Given the description of an element on the screen output the (x, y) to click on. 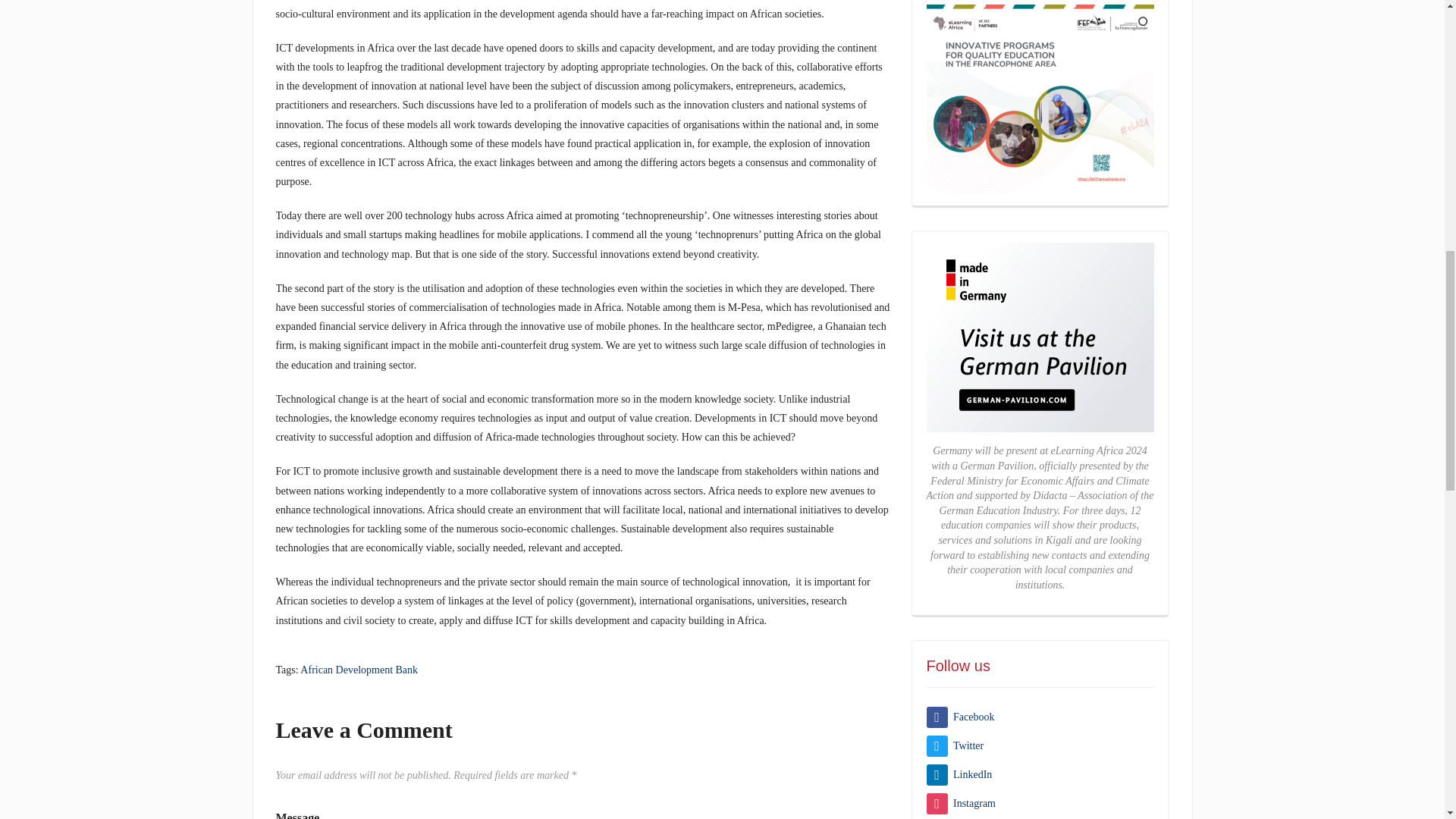
Facebook (960, 716)
Twitter (955, 745)
Twitter (955, 745)
Instagram (960, 803)
Facebook (960, 716)
LinkedIn (959, 774)
African Development Bank (358, 669)
LinkedIn (959, 774)
Instagram (960, 803)
